Given the description of an element on the screen output the (x, y) to click on. 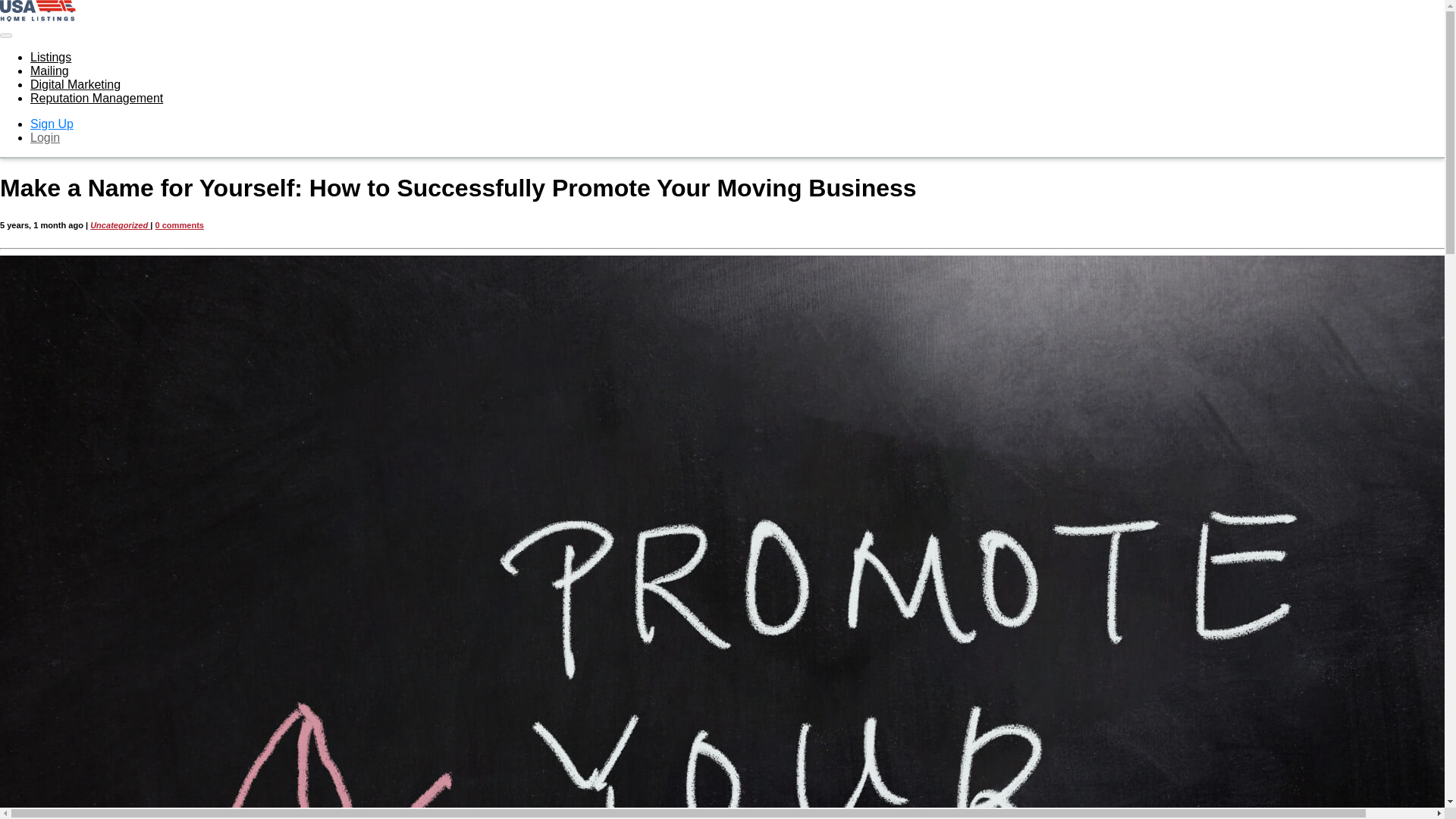
Listings (50, 56)
Reputation Management (96, 97)
Sign Up (52, 123)
0 comments (178, 225)
USA Home Listings (37, 11)
Uncategorized (119, 225)
Login (44, 137)
Mailing (49, 70)
Digital Marketing (75, 83)
0 comments (178, 225)
